Given the description of an element on the screen output the (x, y) to click on. 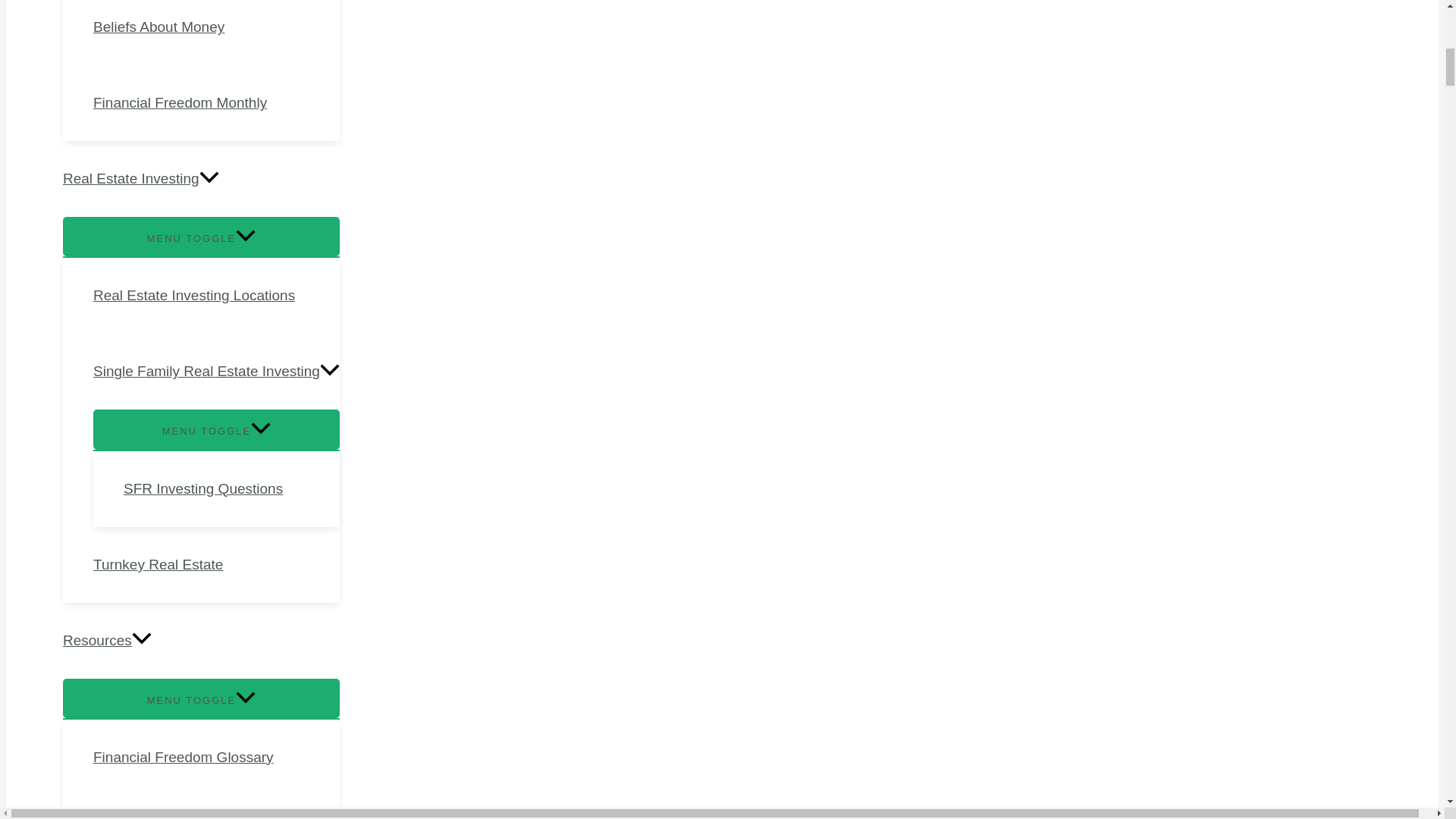
Real Estate Investing (200, 178)
SFR Investing Questions (231, 489)
Resources (200, 640)
Free Financial Tools (216, 807)
MENU TOGGLE (200, 236)
Turnkey Real Estate (216, 564)
Financial Freedom Monthly (216, 102)
Single Family Real Estate Investing (216, 371)
Beliefs About Money (216, 32)
MENU TOGGLE (200, 698)
